Given the description of an element on the screen output the (x, y) to click on. 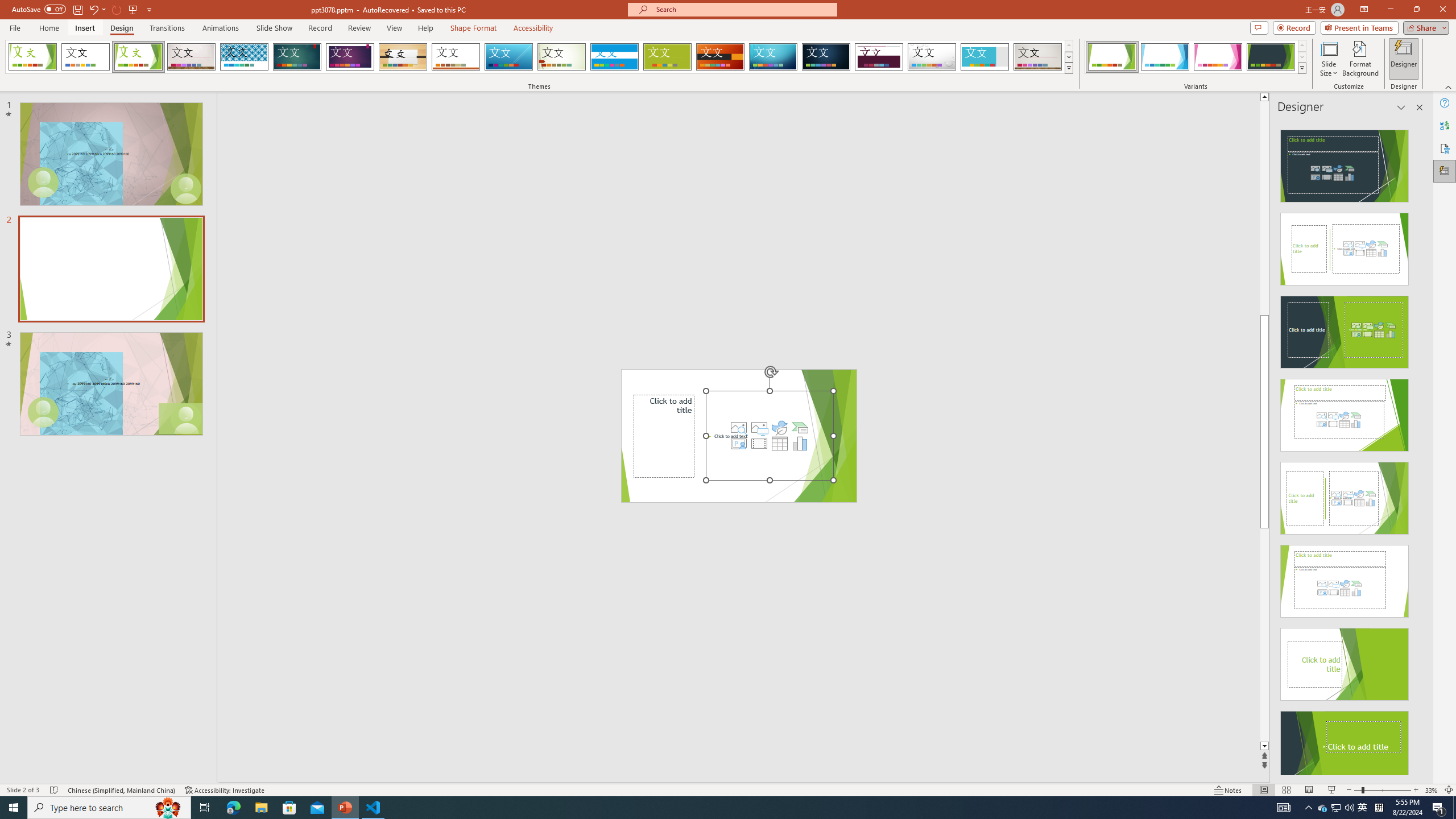
Integral (244, 56)
Damask (826, 56)
Basis (667, 56)
Ion Boardroom (350, 56)
